Given the description of an element on the screen output the (x, y) to click on. 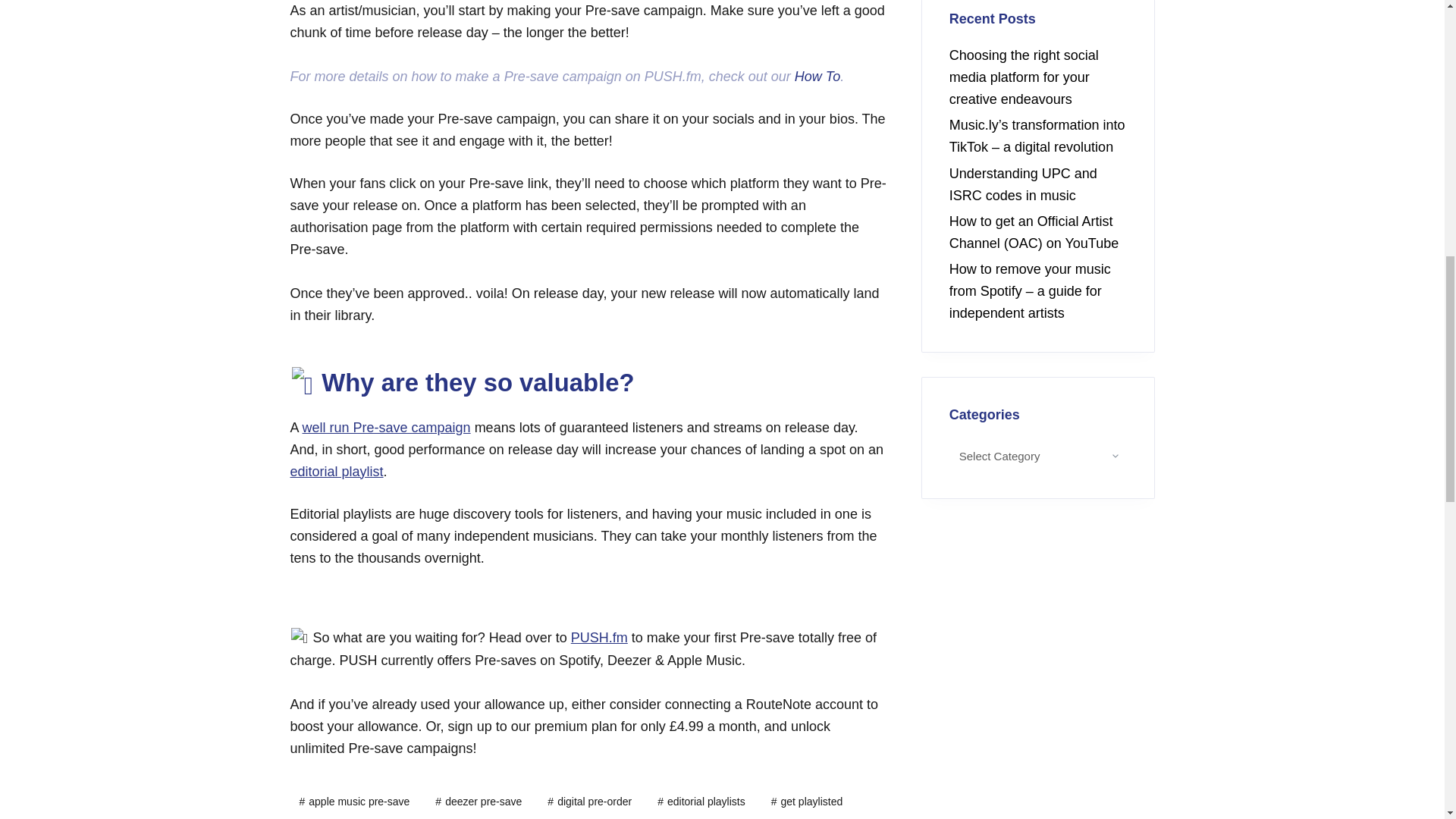
How To (817, 76)
well run Pre-save campaign (386, 427)
editorial playlist (335, 471)
apple music pre-save (354, 802)
PUSH.fm (598, 636)
digital pre-order (589, 802)
editorial playlists (700, 802)
get playlisted (806, 802)
deezer pre-save (478, 802)
